Given the description of an element on the screen output the (x, y) to click on. 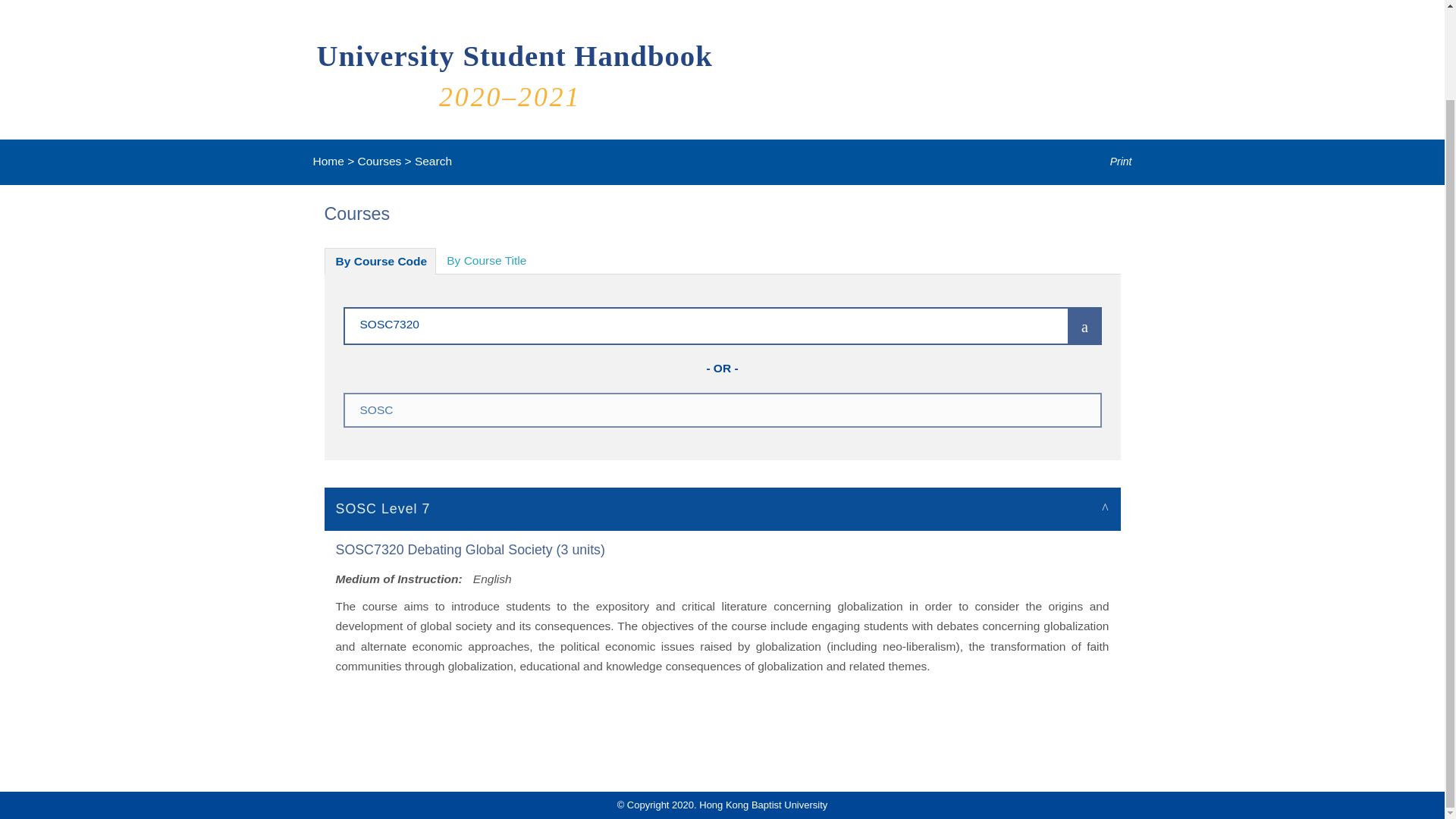
By Course Title (486, 260)
By Course Code (381, 261)
SOSC7320 (683, 322)
SOSC7320 (683, 322)
Courses (379, 160)
SOSC Level 7 (722, 508)
Print (1110, 161)
Home (328, 160)
